Given the description of an element on the screen output the (x, y) to click on. 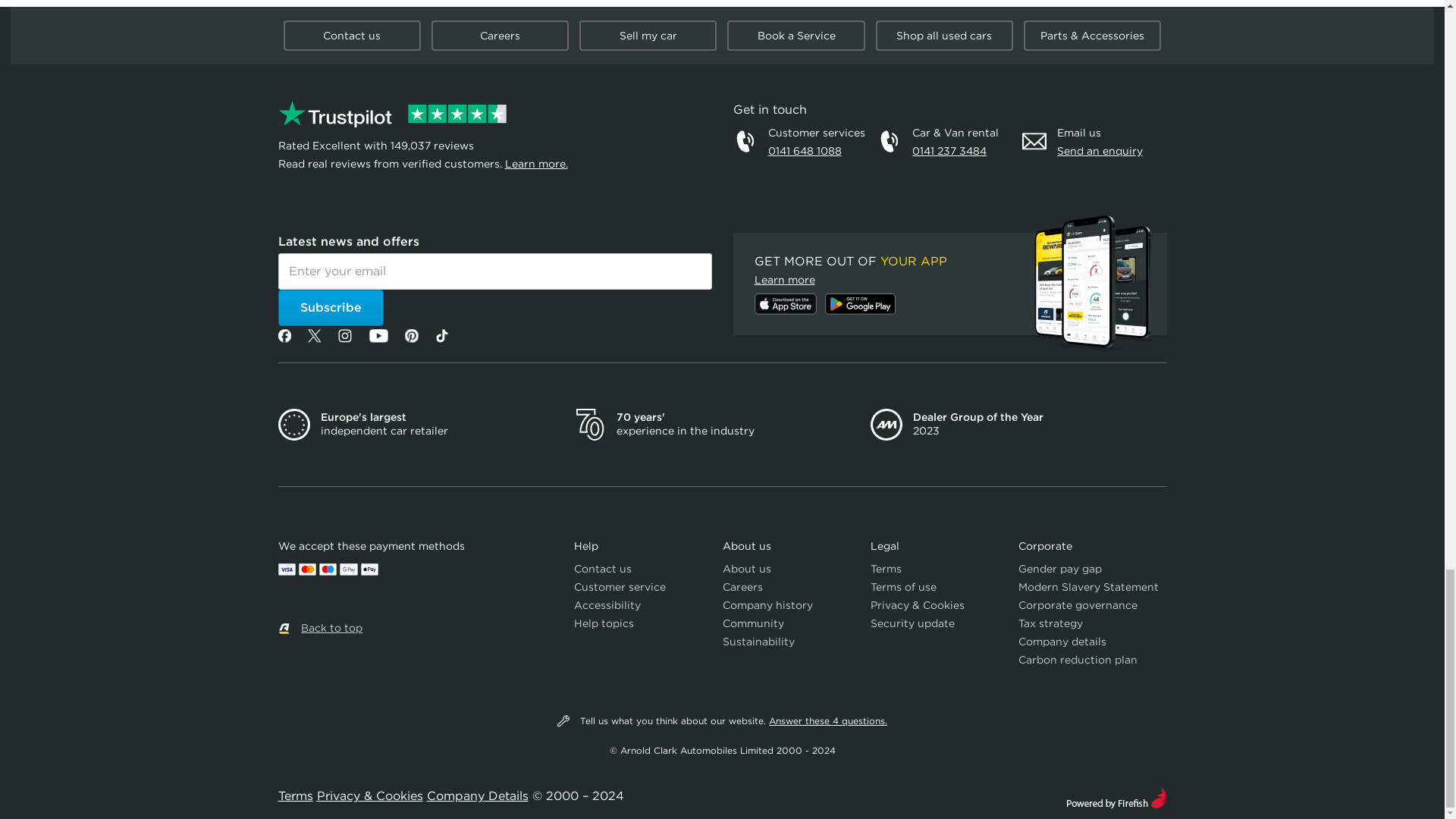
Recruitment Software - Firefish Software (1116, 796)
